Given the description of an element on the screen output the (x, y) to click on. 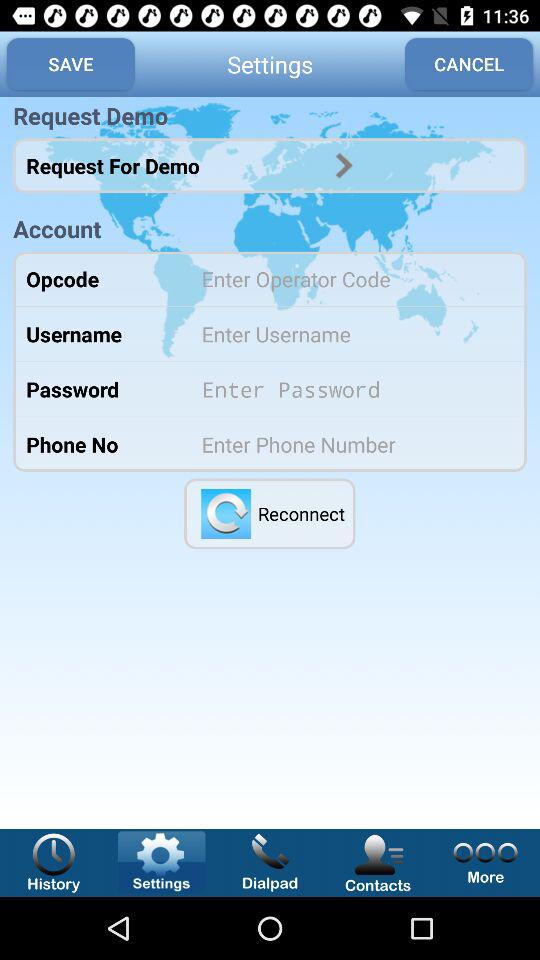
scroll until the cancel button (469, 64)
